Given the description of an element on the screen output the (x, y) to click on. 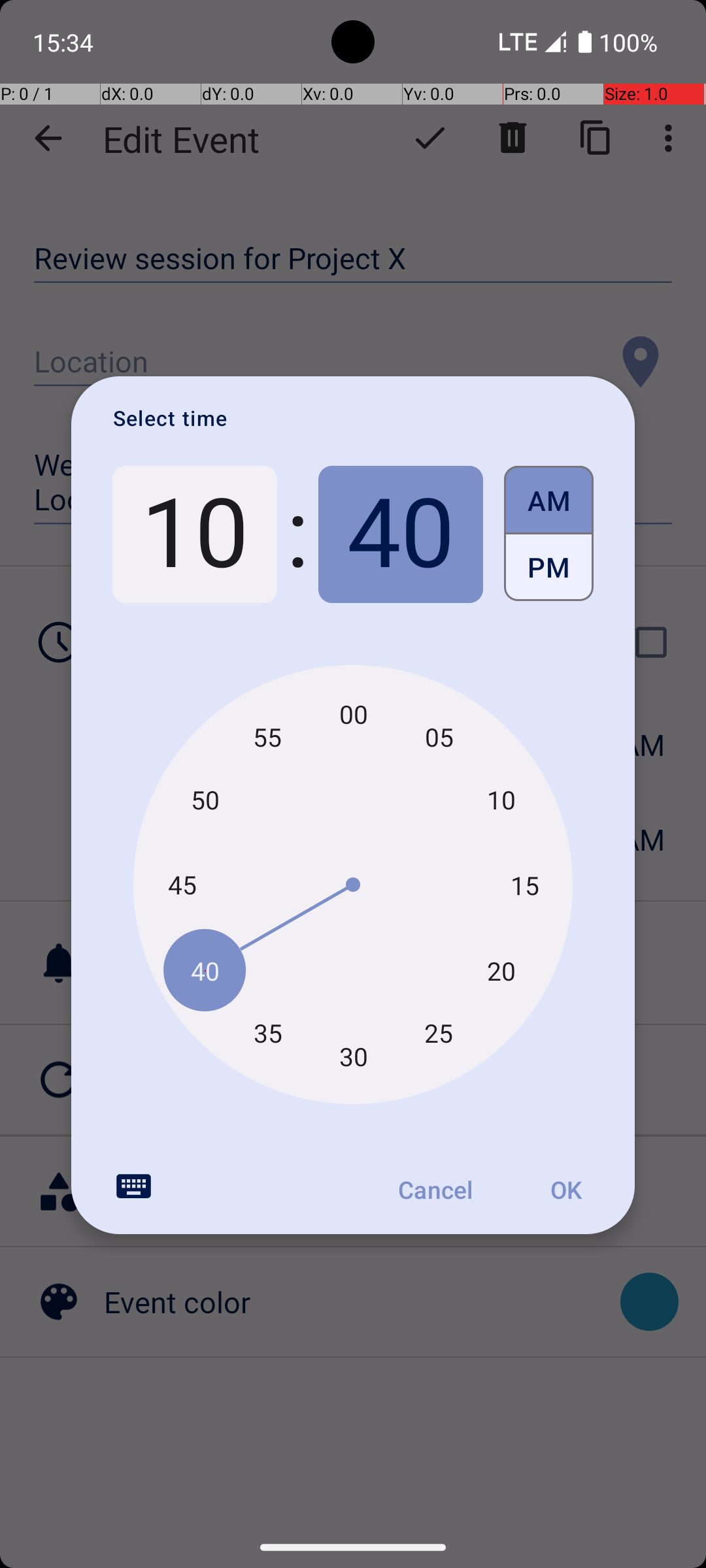
Select AM or PM Element type: android.widget.LinearLayout (548, 534)
